Given the description of an element on the screen output the (x, y) to click on. 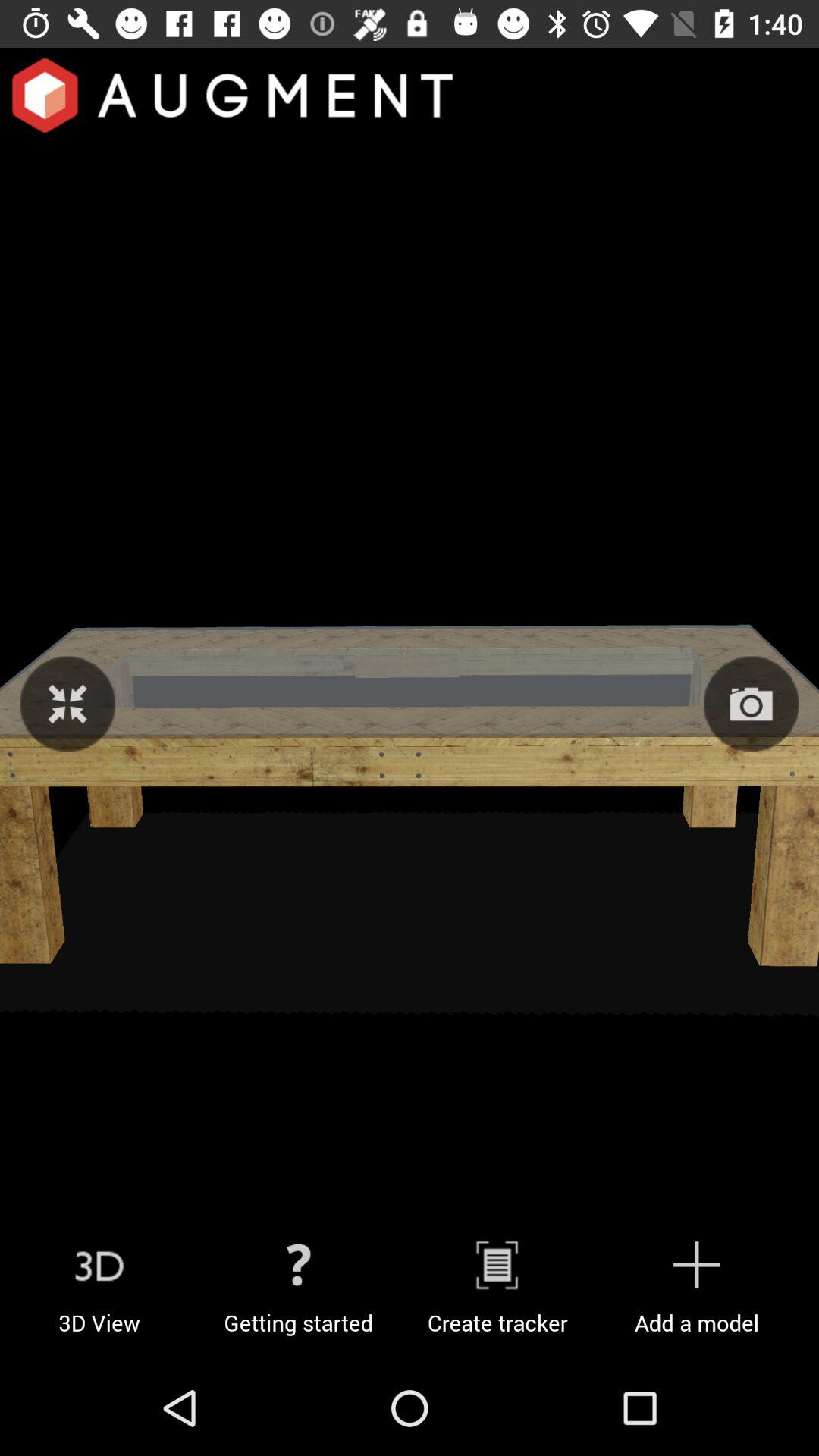
change size (67, 703)
